Given the description of an element on the screen output the (x, y) to click on. 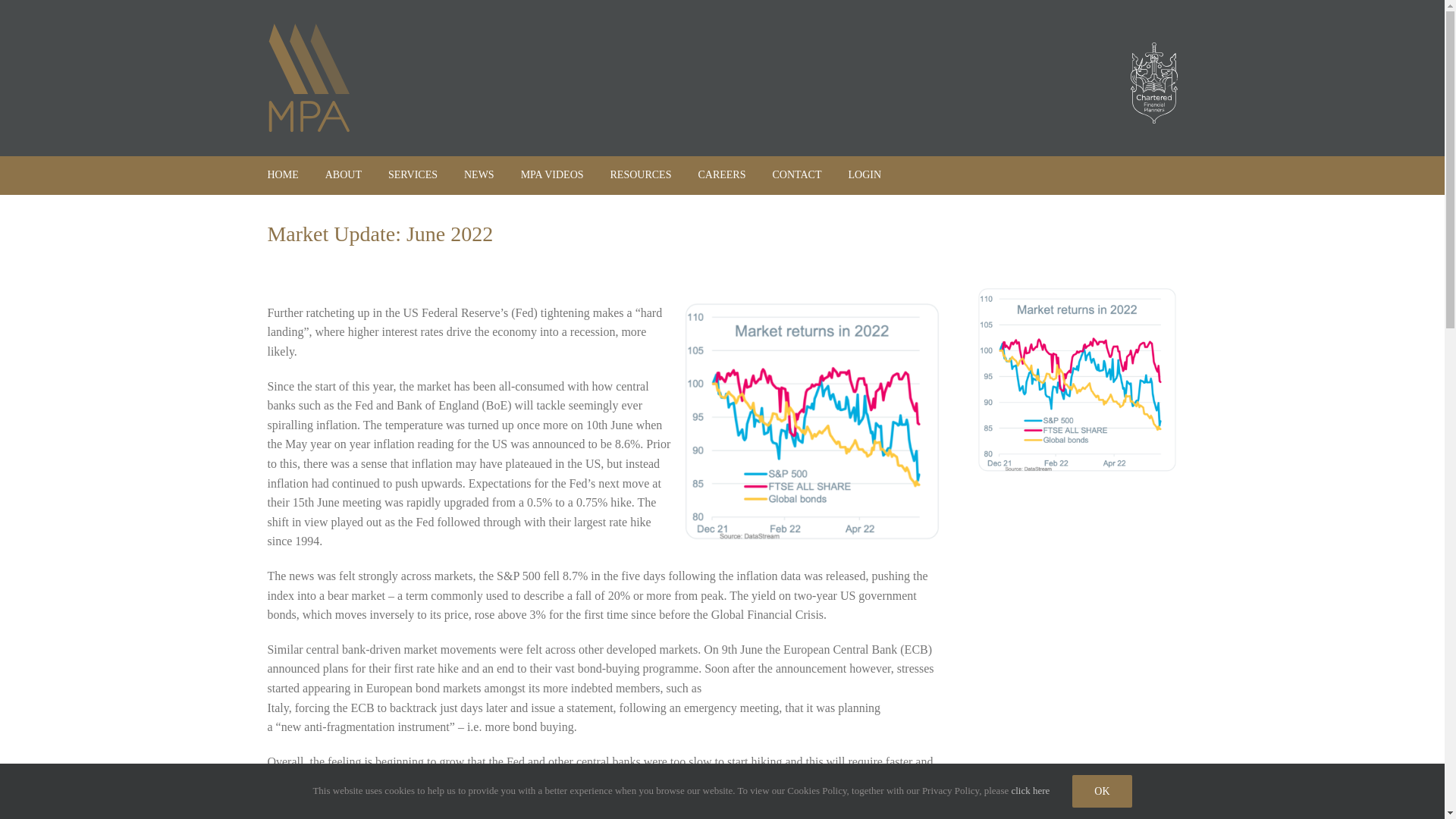
ABOUT (342, 175)
MPA VIDEOS (552, 175)
CAREERS (721, 175)
SERVICES (413, 175)
CONTACT (796, 175)
Screenshot 2022-06-21 at 18.24.11 (1076, 380)
RESOURCES (640, 175)
